Given the description of an element on the screen output the (x, y) to click on. 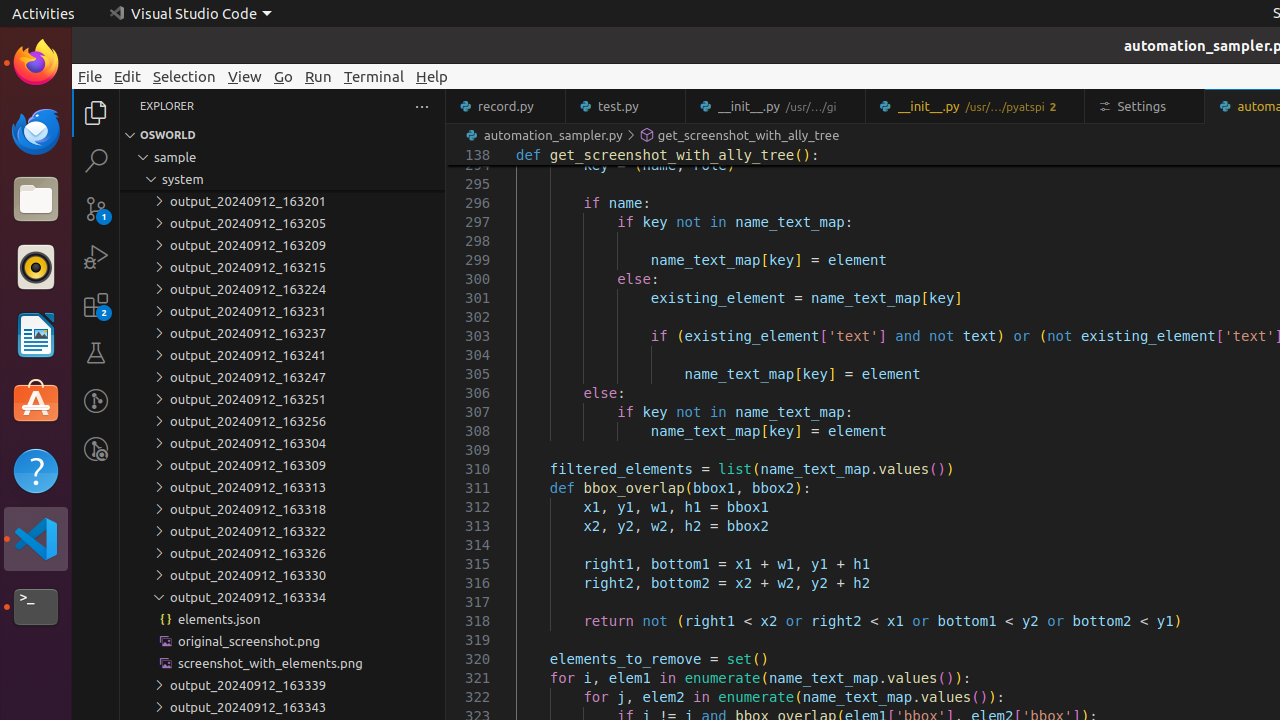
output_20240912_163313 Element type: tree-item (282, 487)
Settings Element type: page-tab (1145, 106)
Explorer Section: osworld Element type: push-button (282, 135)
output_20240912_163209 Element type: tree-item (282, 245)
Extensions (Ctrl+Shift+X) - 2 require restart Extensions (Ctrl+Shift+X) - 2 require restart Element type: page-tab (96, 305)
